Given the description of an element on the screen output the (x, y) to click on. 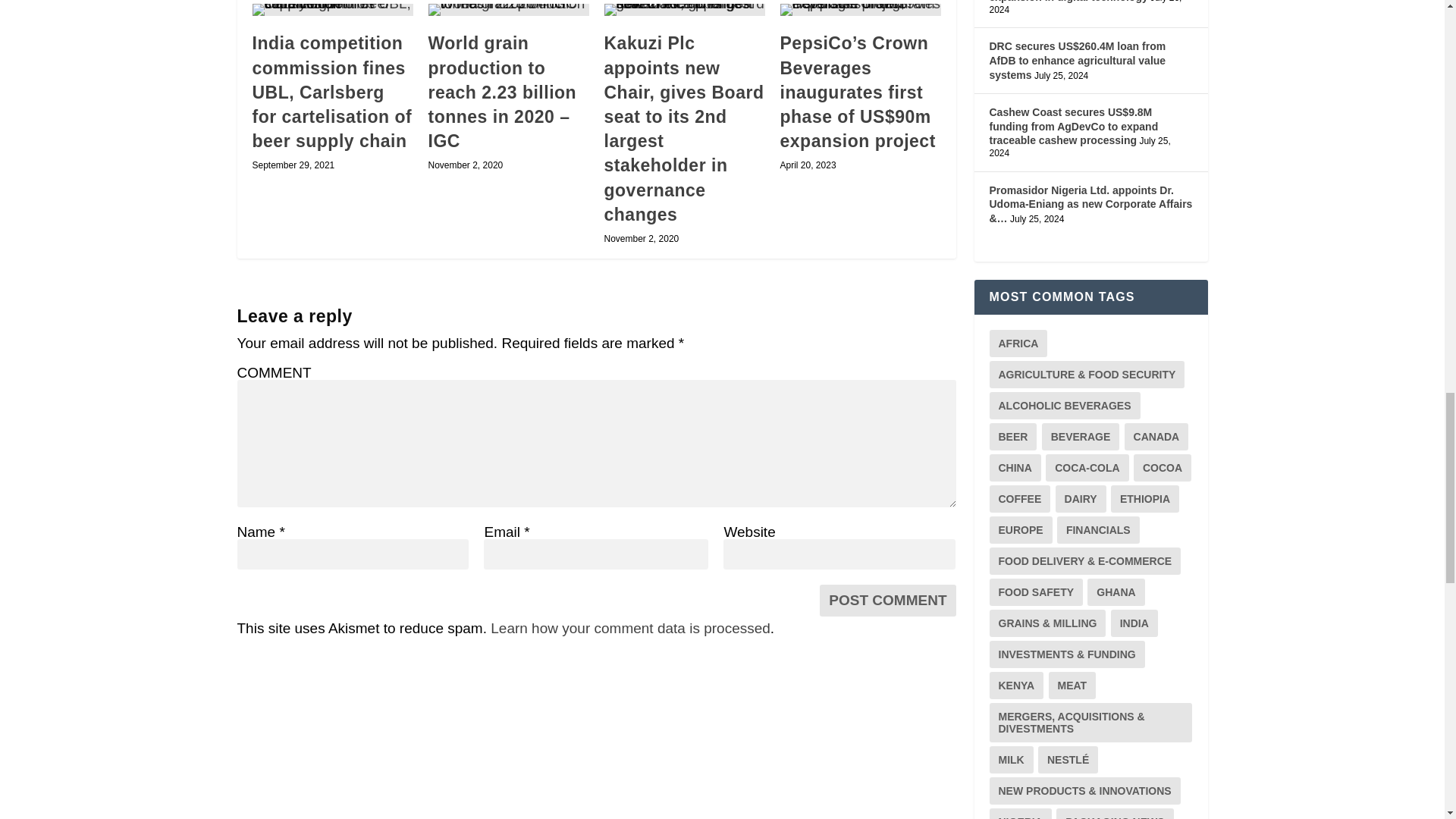
Post Comment (887, 600)
